Given the description of an element on the screen output the (x, y) to click on. 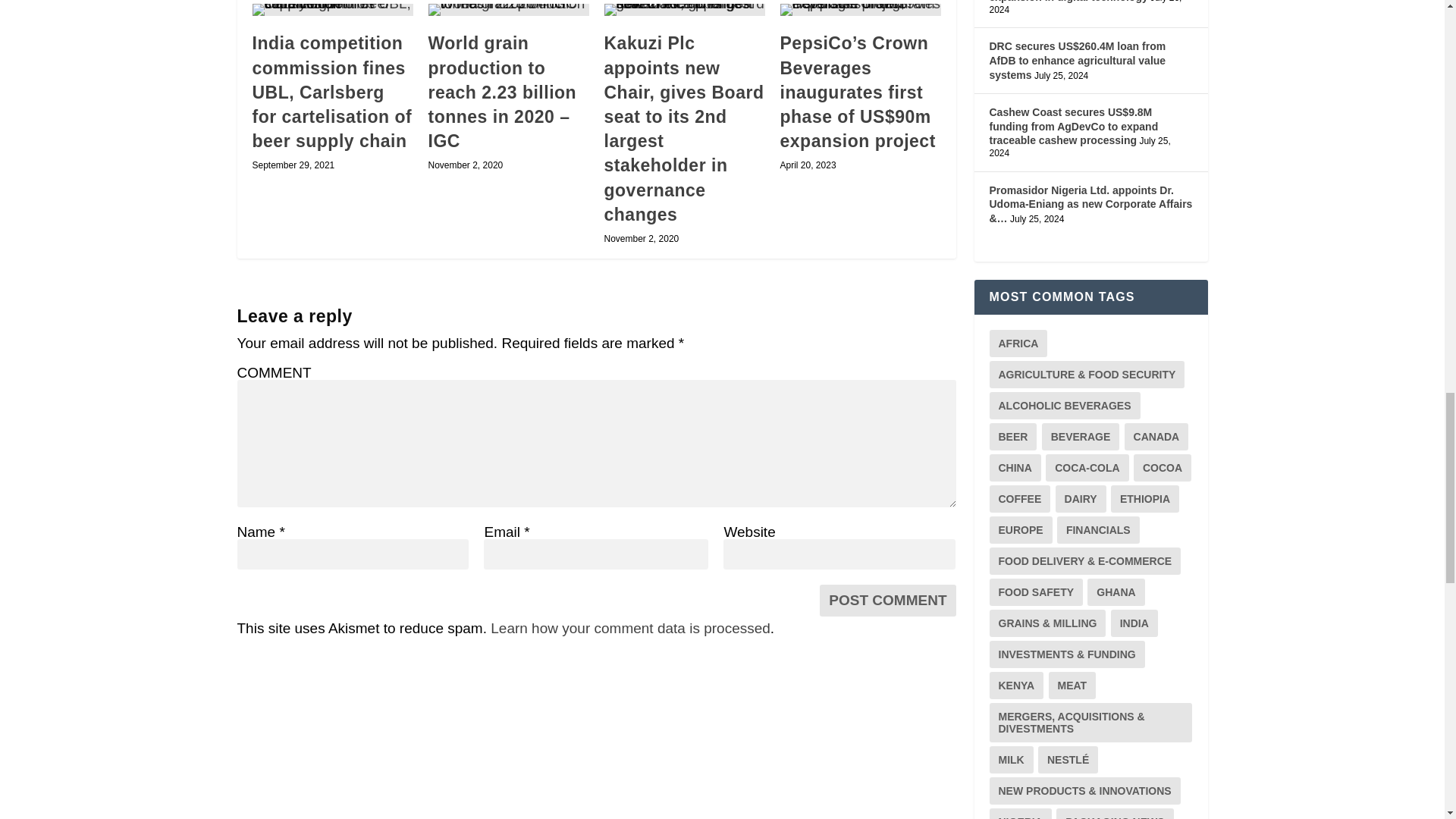
Post Comment (887, 600)
